Given the description of an element on the screen output the (x, y) to click on. 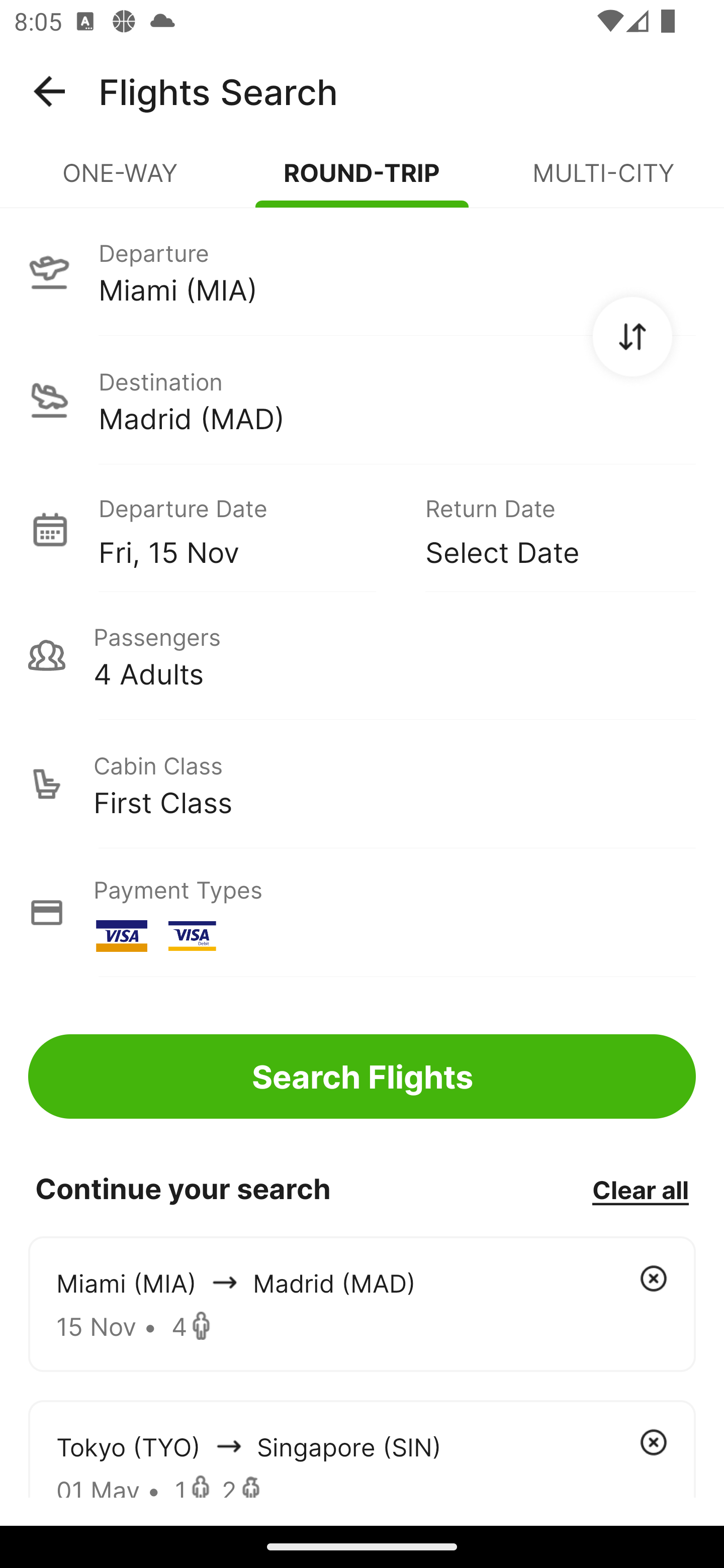
ONE-WAY (120, 180)
ROUND-TRIP (361, 180)
MULTI-CITY (603, 180)
Departure Miami (MIA) (362, 270)
Destination Madrid (MAD) (362, 400)
Departure Date Fri, 15 Nov (247, 528)
Return Date Select Date (546, 528)
Passengers 4 Adults (362, 655)
Cabin Class First Class (362, 783)
Payment Types (362, 912)
Search Flights (361, 1075)
Clear all (640, 1189)
Miami (MIA)  arrowIcon  Madrid (MAD) 15 Nov •  4  (361, 1303)
